Given the description of an element on the screen output the (x, y) to click on. 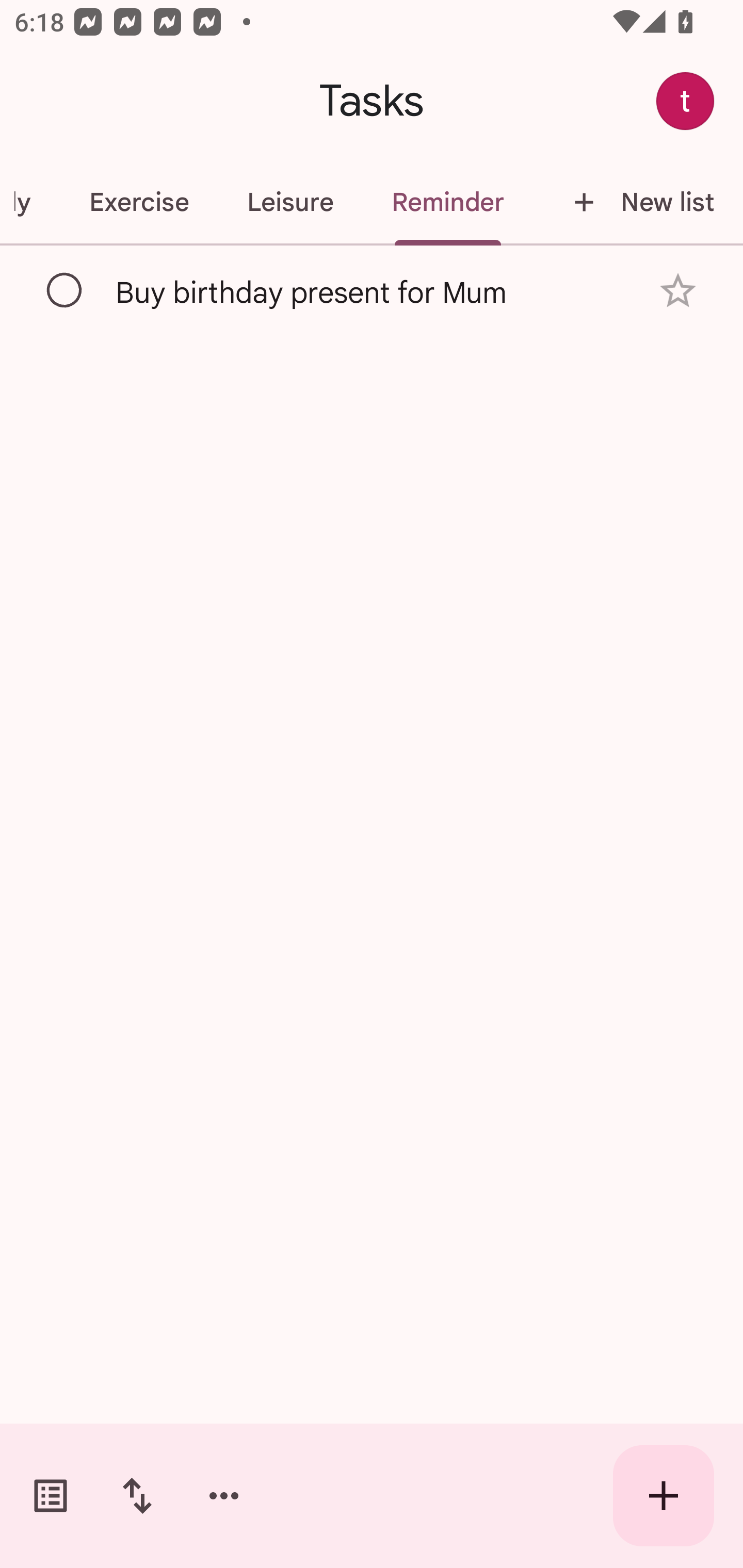
Exercise (138, 202)
Leisure (289, 202)
New list (638, 202)
Add star (677, 290)
Mark as complete (64, 290)
Switch task lists (50, 1495)
Create new task (663, 1495)
Change sort order (136, 1495)
More options (223, 1495)
